Given the description of an element on the screen output the (x, y) to click on. 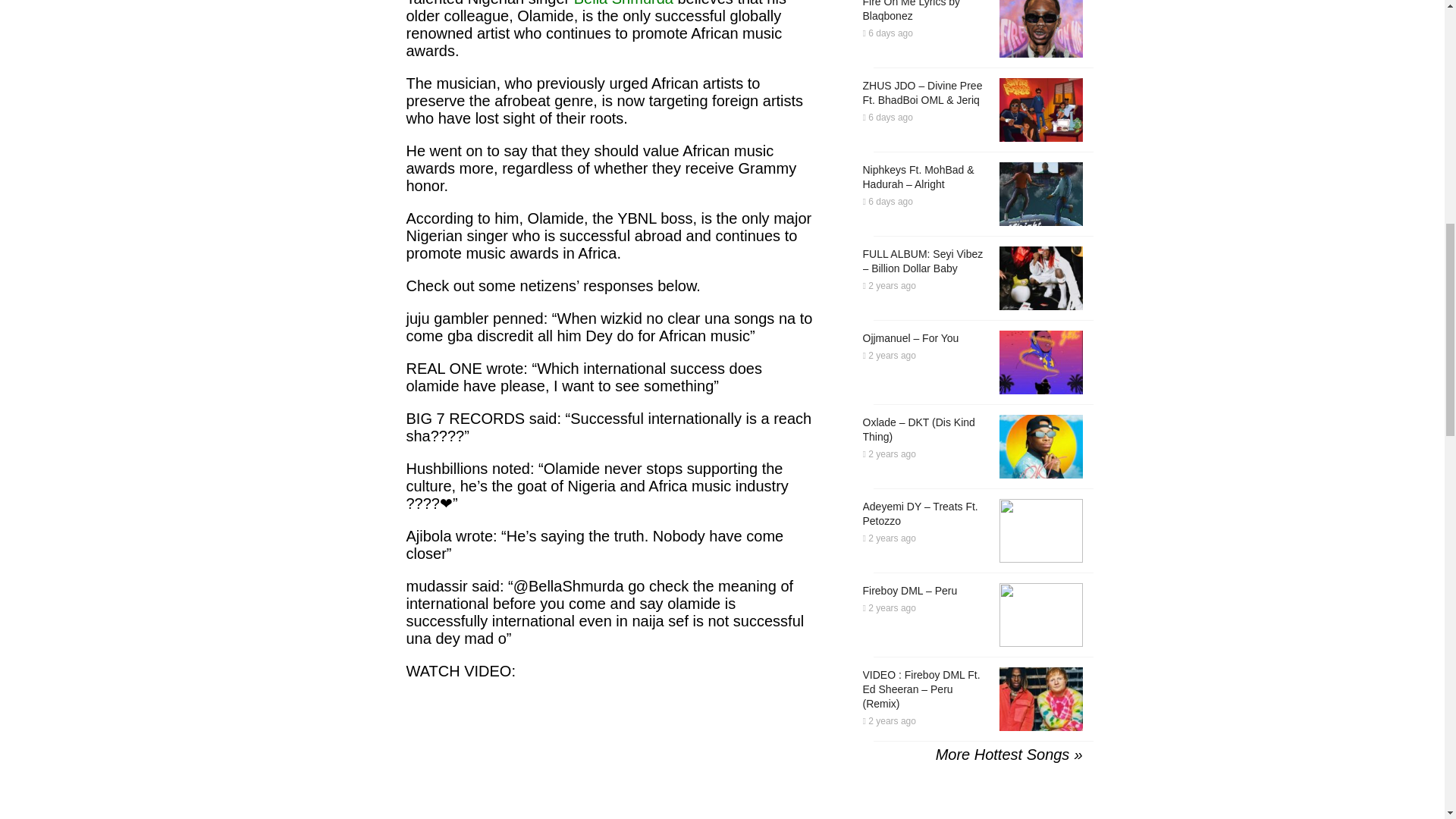
X Post (519, 752)
